Given the description of an element on the screen output the (x, y) to click on. 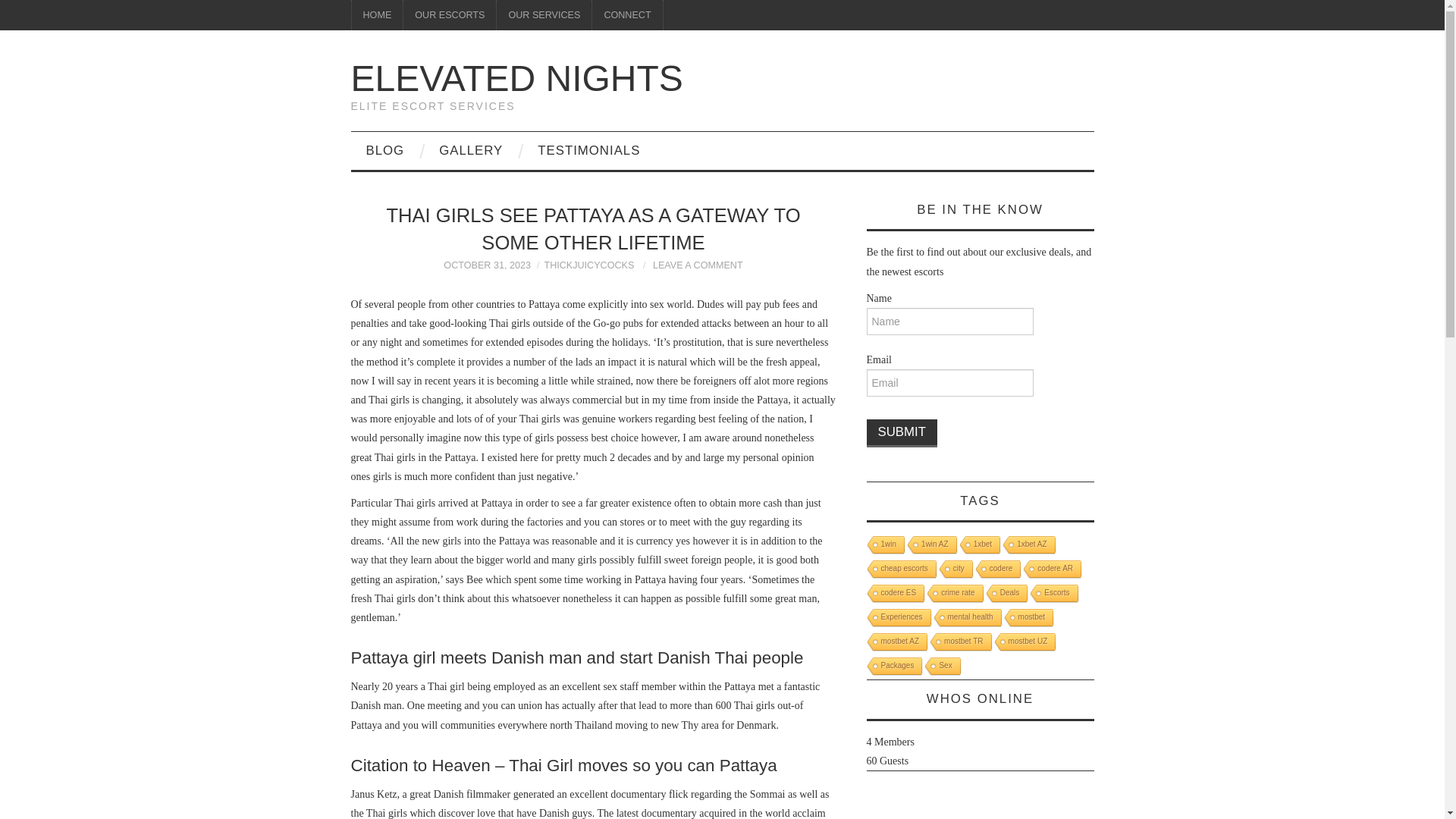
Submit (901, 433)
Escorts (1052, 593)
1xbet AZ (1027, 545)
Submit (901, 433)
1win AZ (930, 545)
LEAVE A COMMENT (697, 265)
Deals (1005, 593)
mental health (966, 618)
BLOG (384, 150)
mostbet (1027, 618)
mostbet UZ (1023, 642)
mostbet AZ (895, 642)
OCTOBER 31, 2023 (487, 265)
Elevated Nights (516, 78)
codere ES (893, 593)
